Given the description of an element on the screen output the (x, y) to click on. 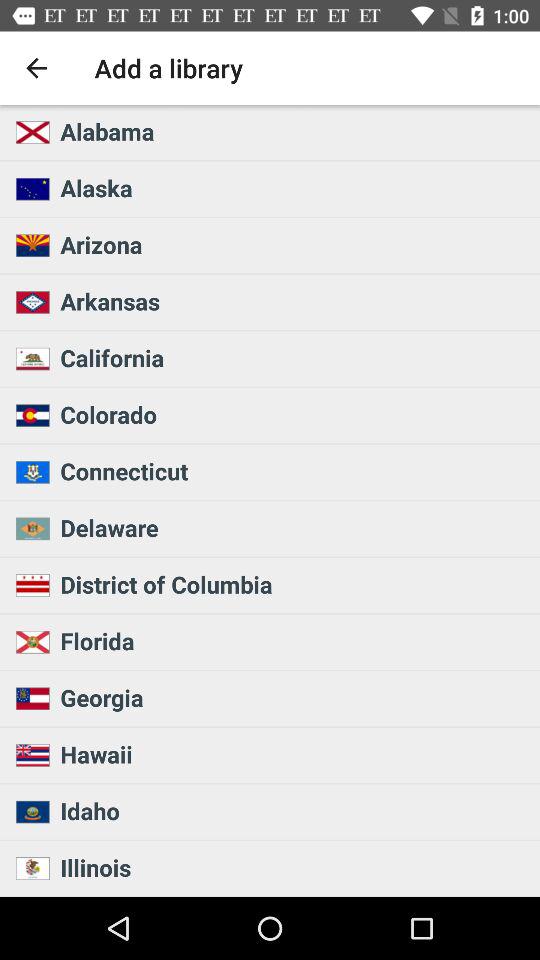
launch colorado icon (294, 414)
